Given the description of an element on the screen output the (x, y) to click on. 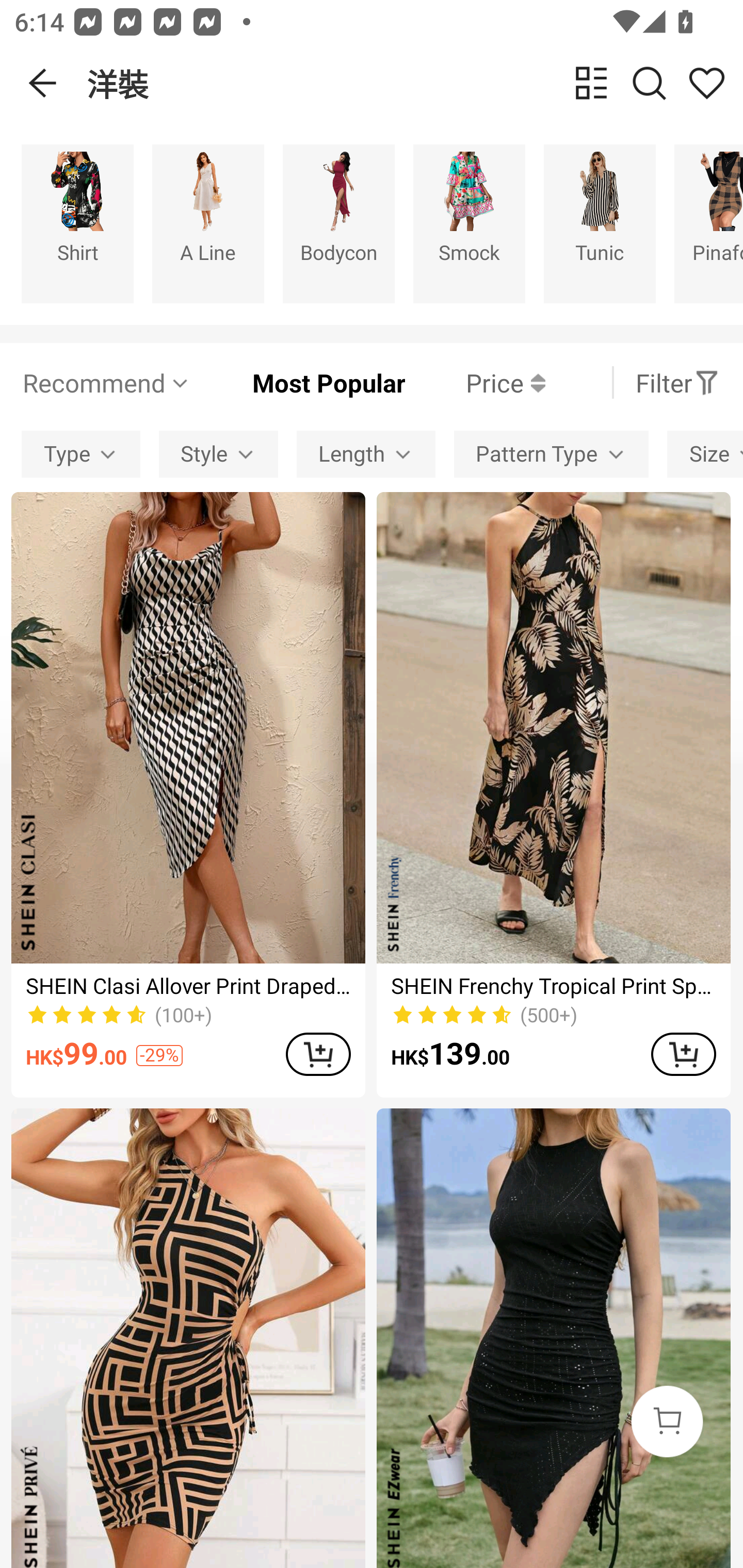
洋裝 change view Search Share (414, 82)
change view (591, 82)
Search (648, 82)
Share (706, 82)
Shirt (77, 223)
A Line (208, 223)
Bodycon (338, 223)
Smock (469, 223)
Tunic (599, 223)
Pinafore (708, 223)
Recommend (106, 382)
Most Popular (297, 382)
Price (474, 382)
Filter (677, 382)
Type (80, 454)
Style (218, 454)
Length (365, 454)
Pattern Type (550, 454)
Size (705, 454)
ADD TO CART (318, 1054)
ADD TO CART (683, 1054)
